Given the description of an element on the screen output the (x, y) to click on. 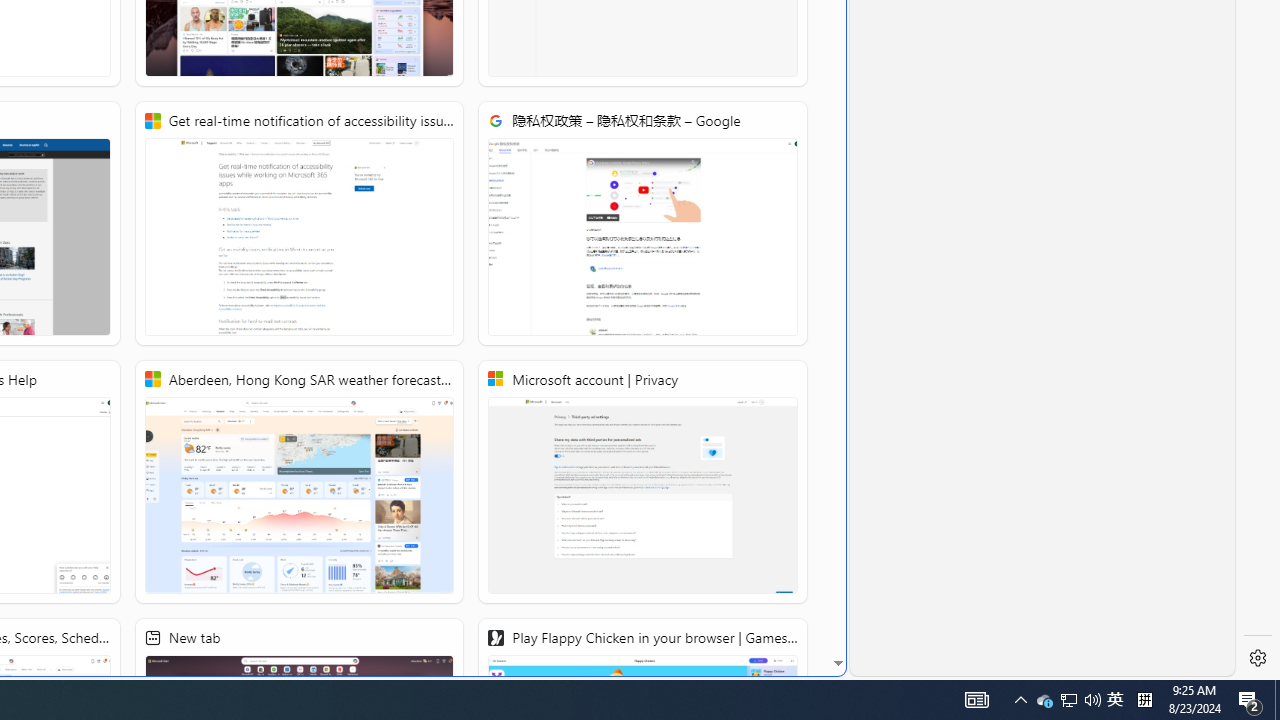
Aberdeen, Hong Kong SAR weather forecast | Microsoft Weather (298, 482)
